Given the description of an element on the screen output the (x, y) to click on. 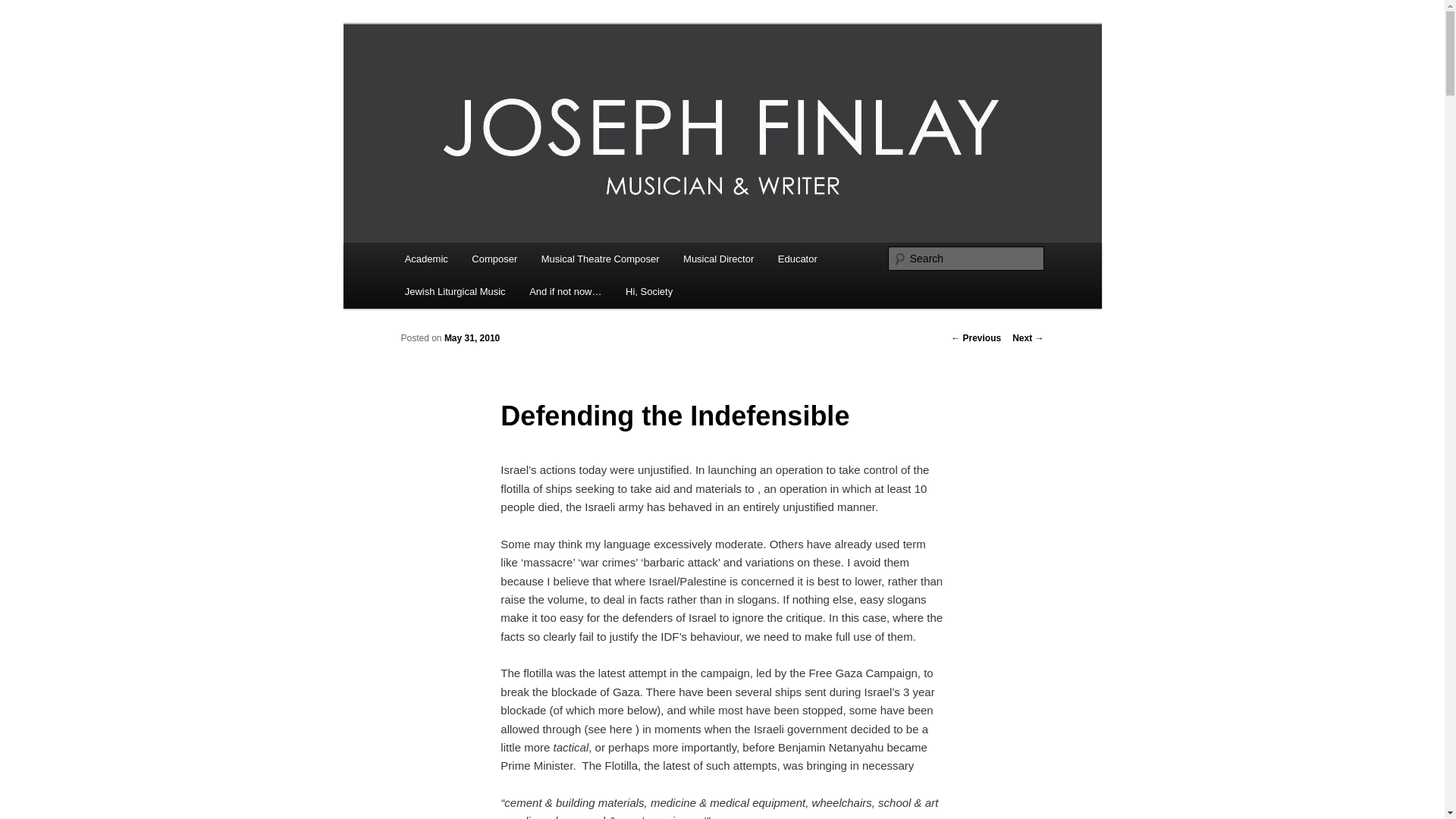
May 31, 2010 (471, 337)
Search (24, 8)
Jewish Liturgical Music (454, 291)
Educator (797, 258)
Musical Director (718, 258)
Academic (426, 258)
Hi, Society (648, 291)
Musical Theatre Composer (600, 258)
10:56 pm (471, 337)
Joseph Finlay (475, 78)
Composer (494, 258)
